Given the description of an element on the screen output the (x, y) to click on. 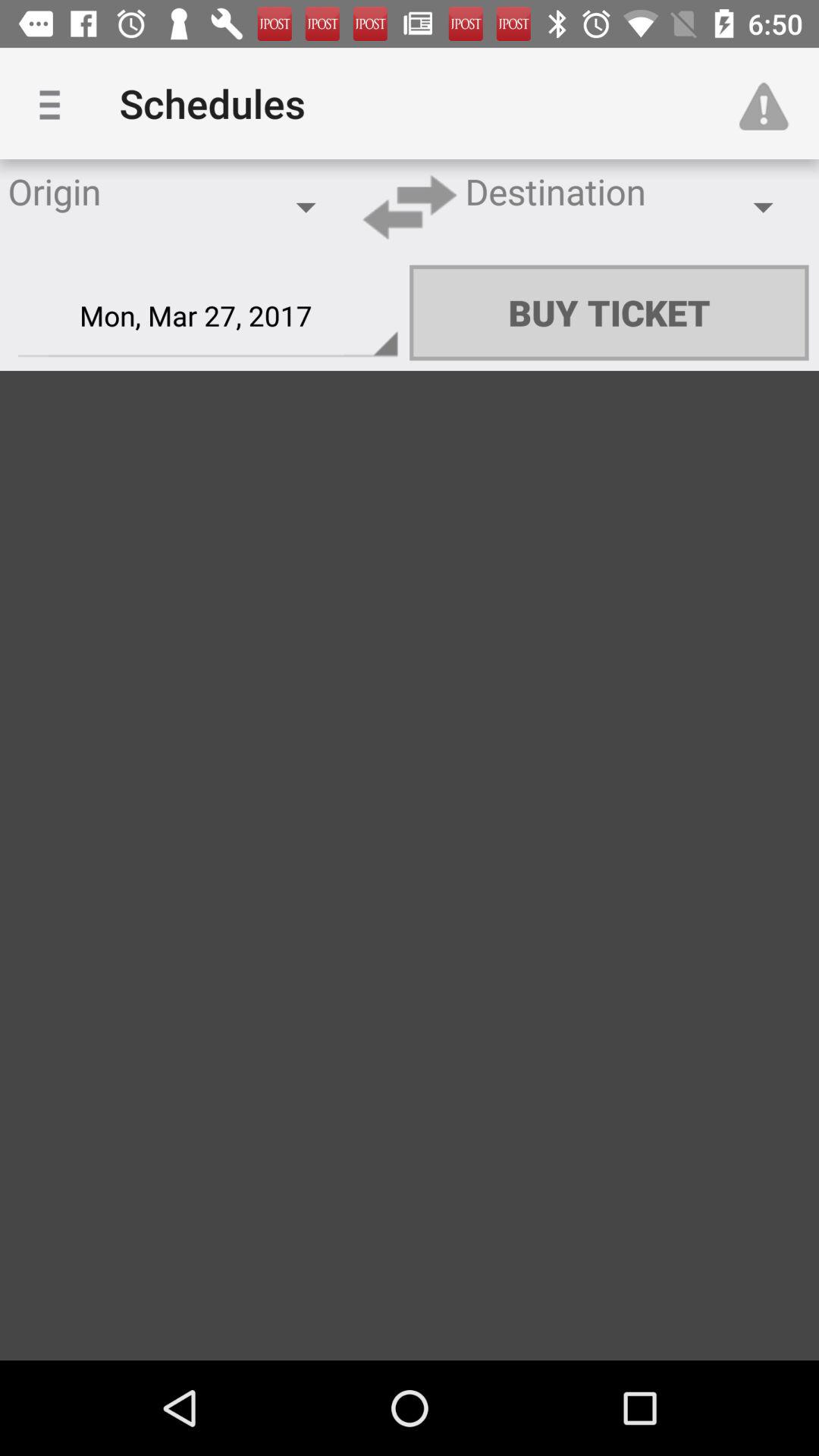
launch icon next to the mon mar 27 item (608, 312)
